Given the description of an element on the screen output the (x, y) to click on. 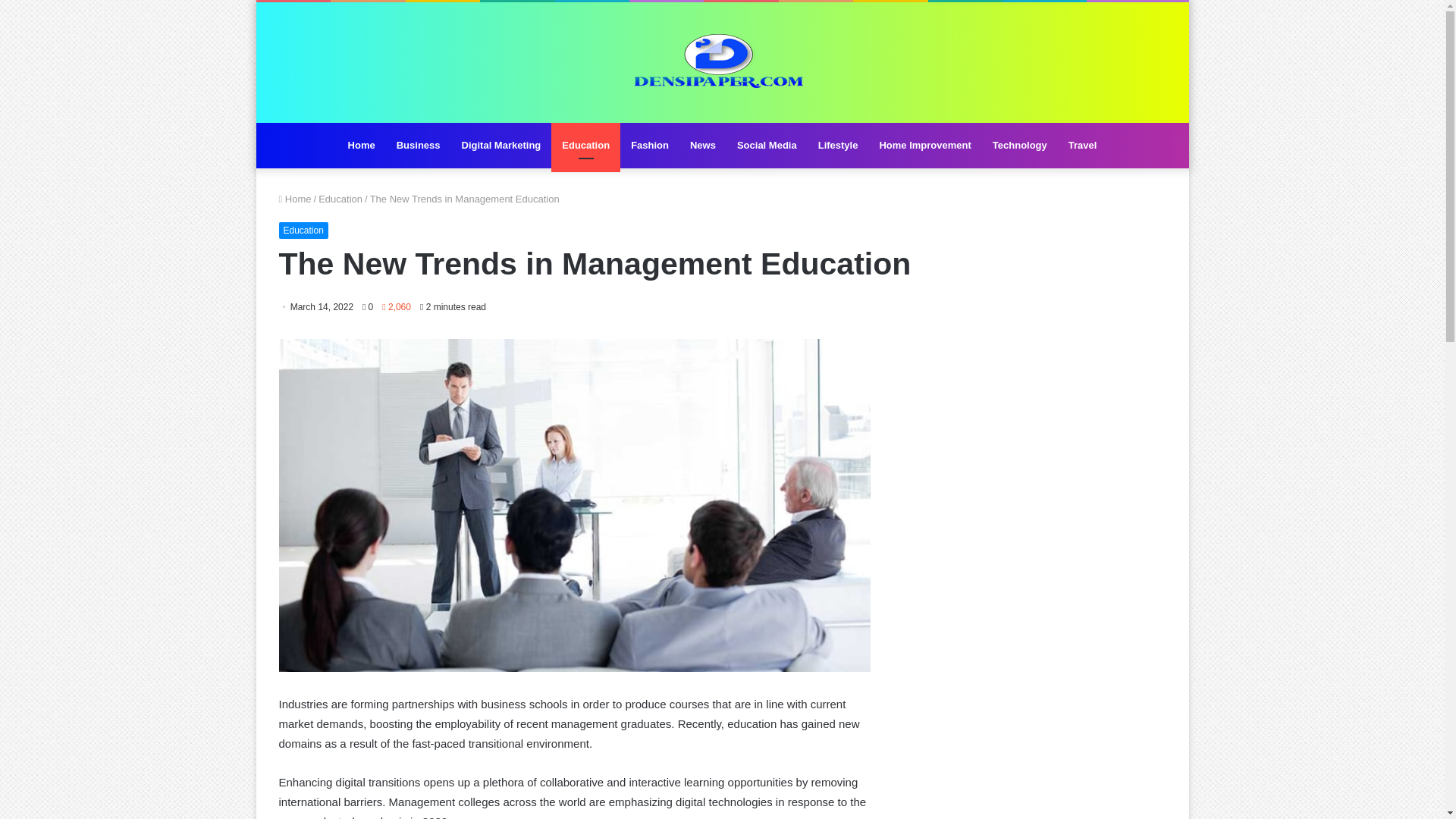
Lifestyle (838, 145)
Social Media (767, 145)
Business (418, 145)
Home (295, 198)
Education (340, 198)
Travel (1083, 145)
Densipaper (721, 62)
Education (585, 145)
News (702, 145)
Technology (1019, 145)
Education (304, 230)
Fashion (649, 145)
Home Improvement (924, 145)
Home (361, 145)
Digital Marketing (501, 145)
